Given the description of an element on the screen output the (x, y) to click on. 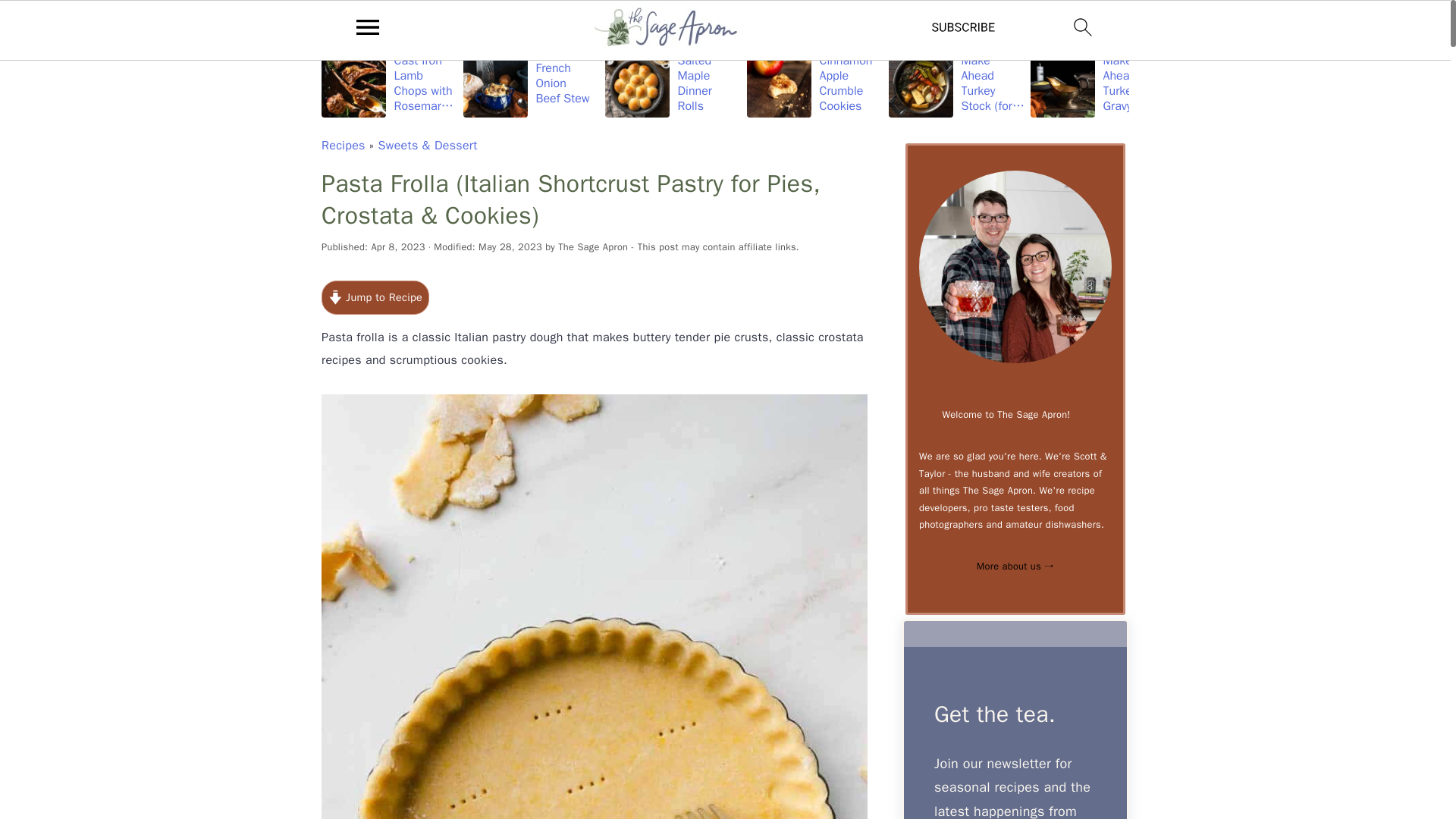
Cinnamon Apple Crumble Cookies (814, 82)
Recipes (343, 145)
Cast Iron Lamb Chops with Rosemary and Balsamic (389, 82)
The Sage Apron (592, 246)
Salted Maple Dinner Rolls (673, 82)
search icon (1083, 31)
Jump to Recipe (375, 297)
search icon (1083, 26)
menu icon (368, 31)
French Onion Beef Stew (531, 82)
menu icon (368, 26)
